Given the description of an element on the screen output the (x, y) to click on. 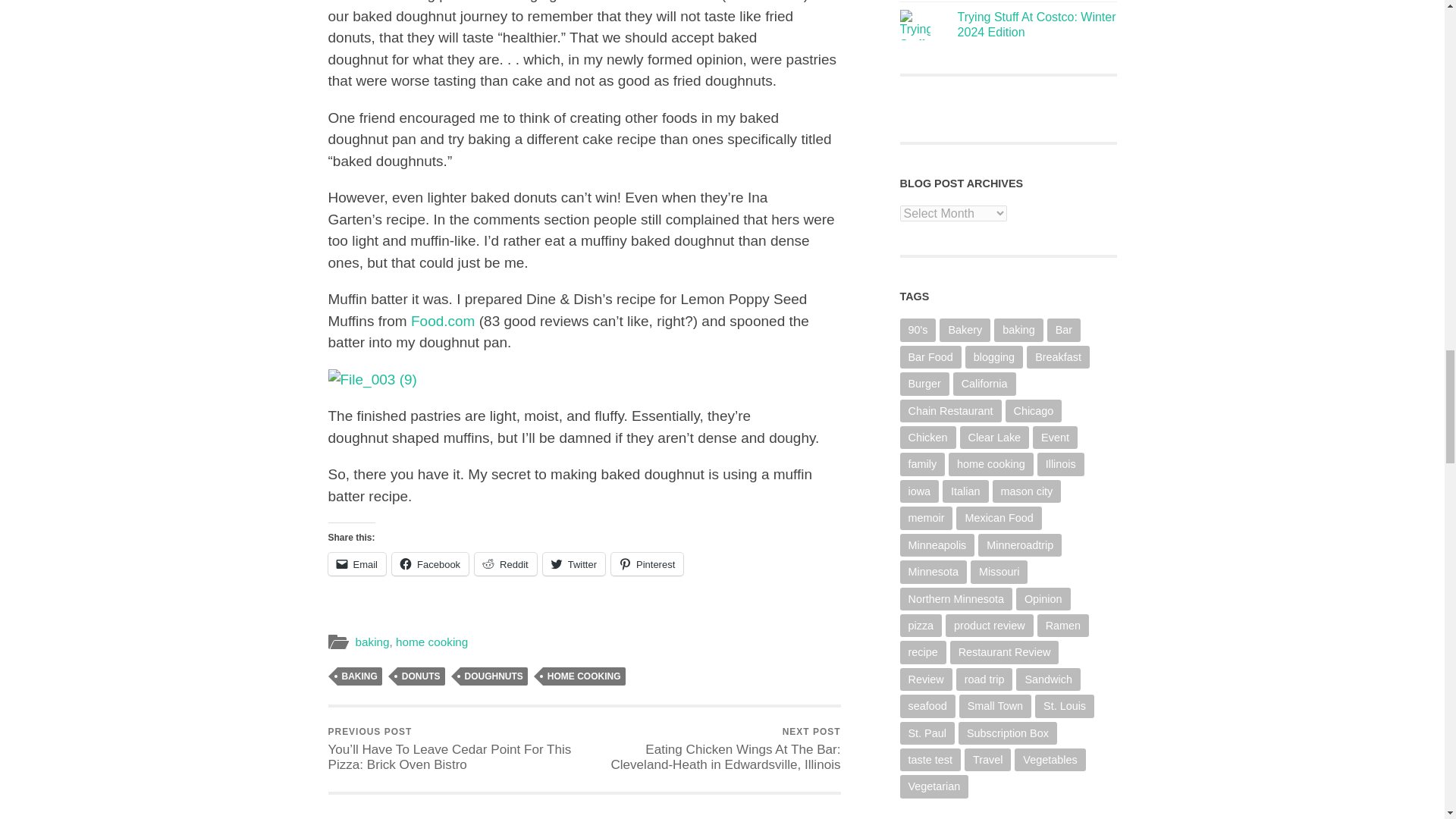
Click to share on Reddit (505, 563)
Click to share on Facebook (429, 563)
Reddit (505, 563)
HOME COOKING (584, 676)
DOUGHNUTS (493, 676)
Food.com (442, 320)
baking (371, 641)
Pinterest (646, 563)
DONUTS (421, 676)
home cooking (431, 641)
Facebook (429, 563)
Email (356, 563)
Click to share on Twitter (574, 563)
Click to email a link to a friend (356, 563)
BAKING (358, 676)
